Given the description of an element on the screen output the (x, y) to click on. 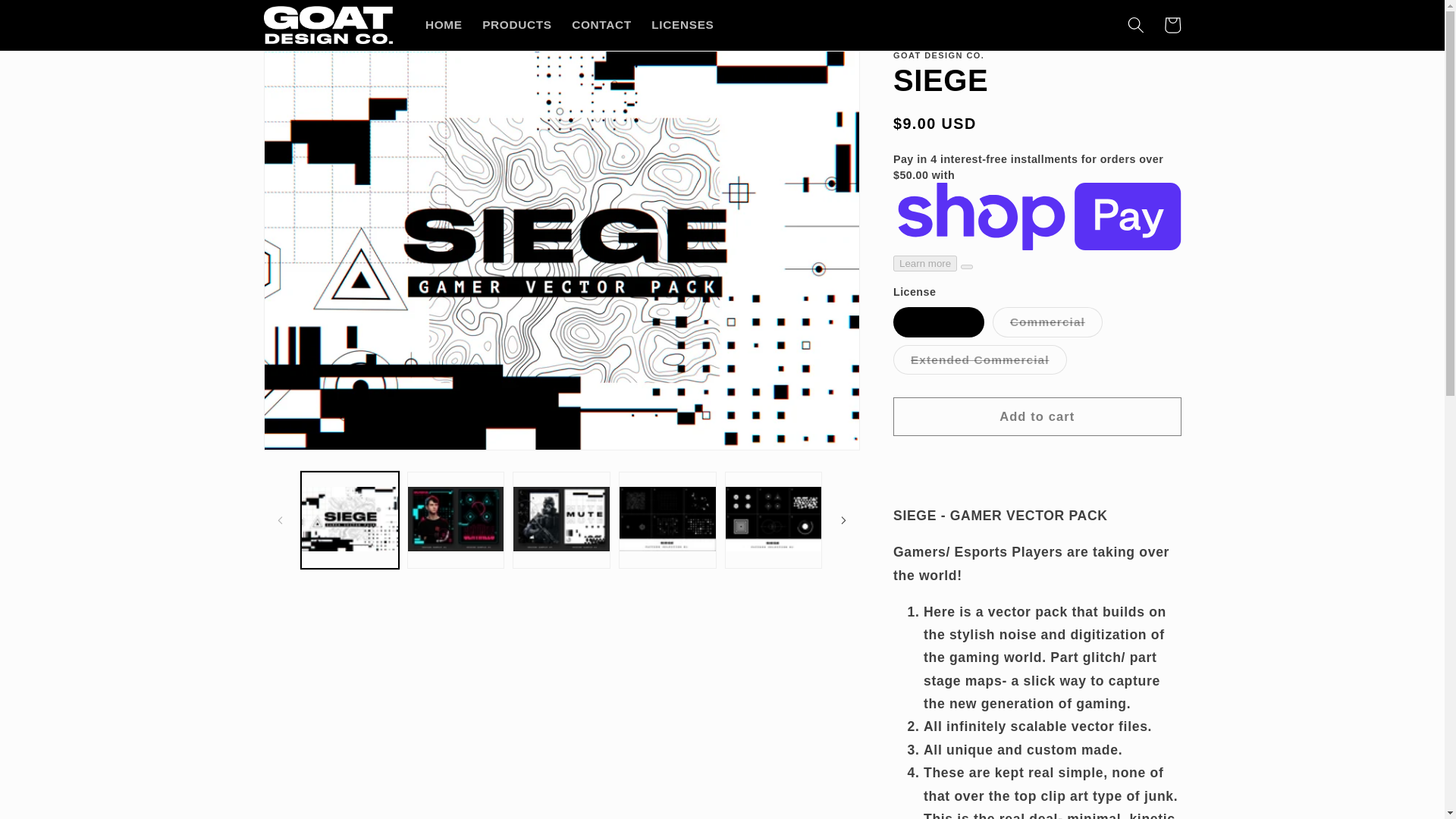
LICENSES (682, 24)
Cart (1172, 24)
Add to cart (1036, 416)
Skip to content (50, 19)
PRODUCTS (516, 24)
HOME (442, 24)
CONTACT (602, 24)
Skip to product information (313, 69)
